Given the description of an element on the screen output the (x, y) to click on. 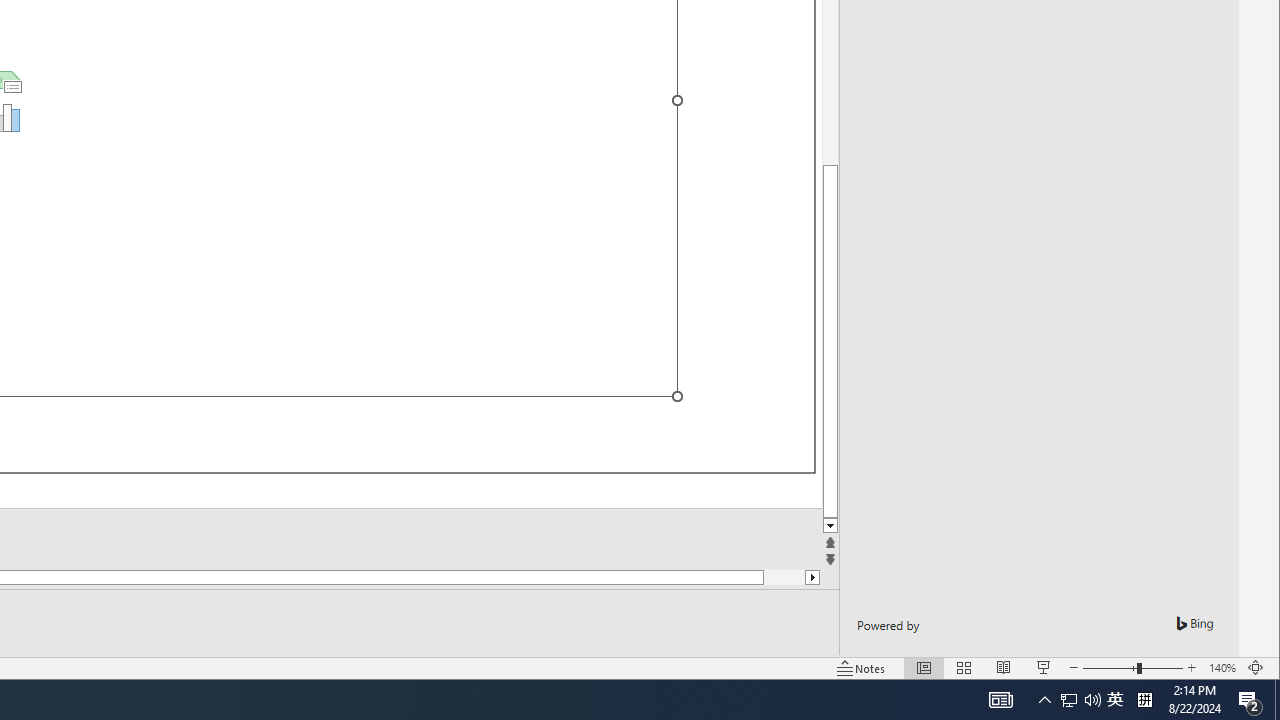
Zoom 140% (1222, 668)
